Given the description of an element on the screen output the (x, y) to click on. 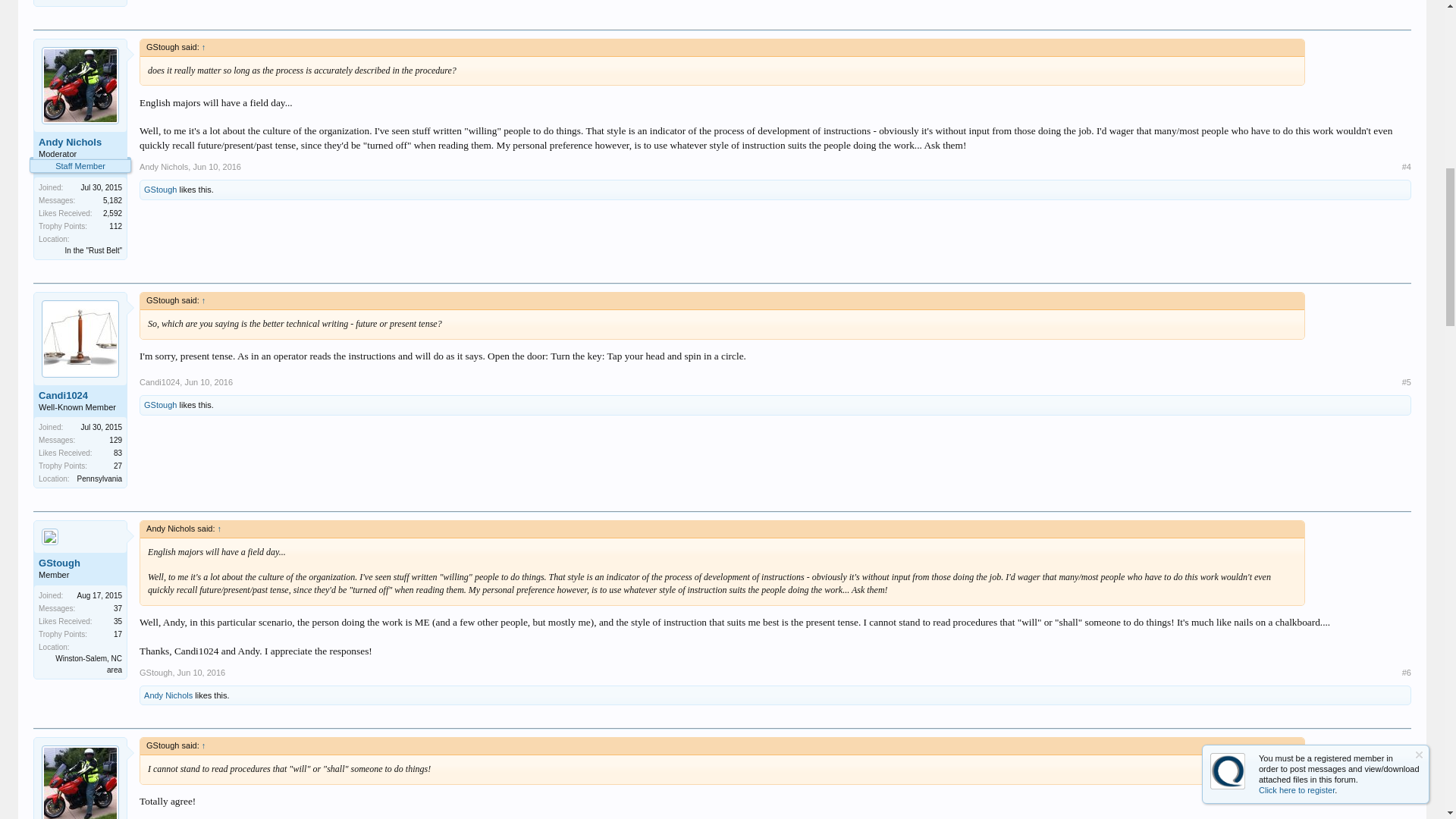
Permalink (216, 166)
Permalink (208, 381)
Winston-Salem, NC area (88, 0)
Andy Nichols (80, 142)
Permalink (201, 672)
